Given the description of an element on the screen output the (x, y) to click on. 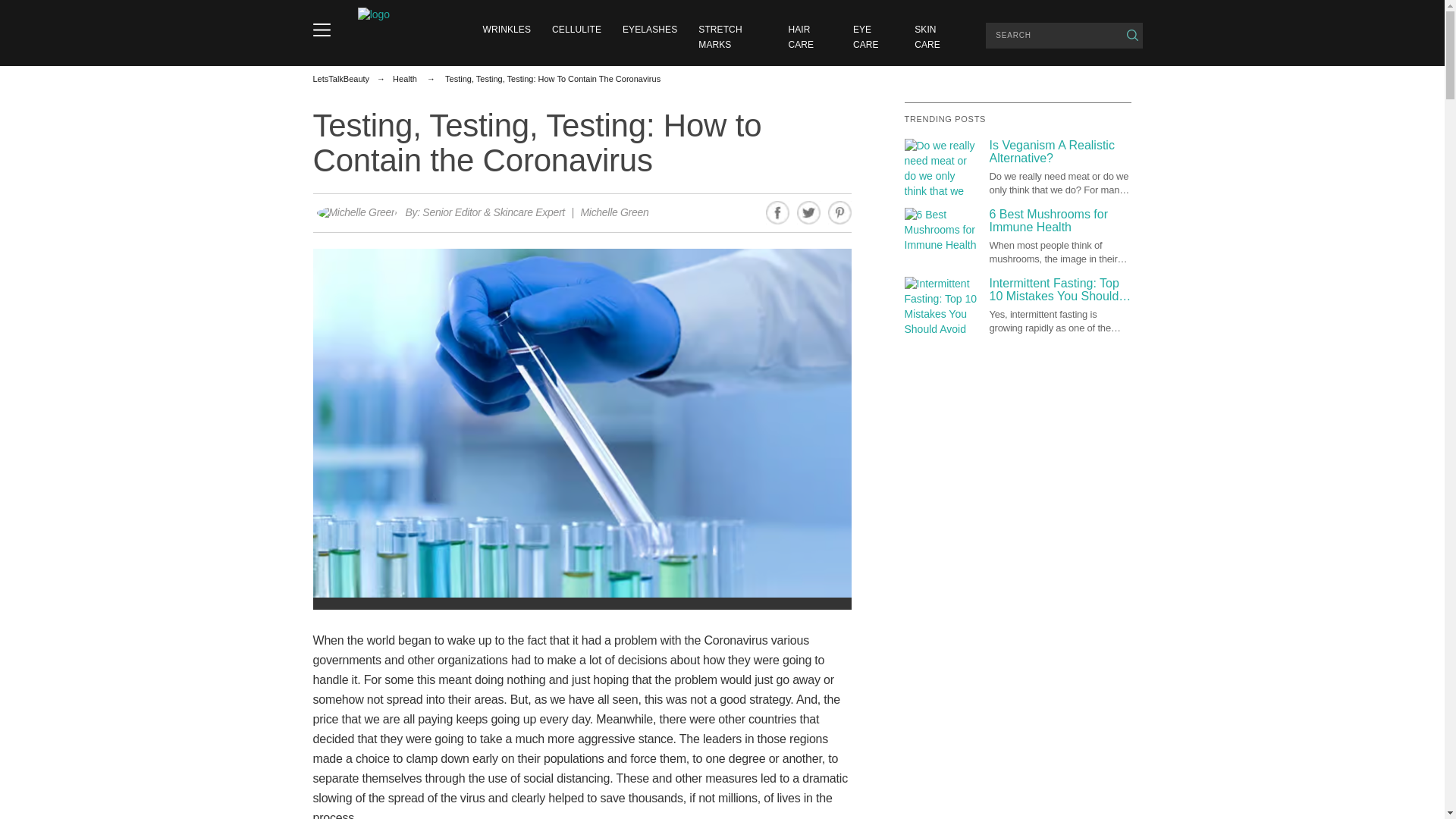
LetsTalkBeauty (341, 78)
CELLULITE (576, 29)
Twitter (807, 212)
Pinterest (839, 212)
EYE CARE (866, 36)
SKIN CARE (927, 36)
WRINKLES (507, 29)
HAIR CARE (800, 36)
Health (404, 78)
STRETCH MARKS (719, 36)
